Given the description of an element on the screen output the (x, y) to click on. 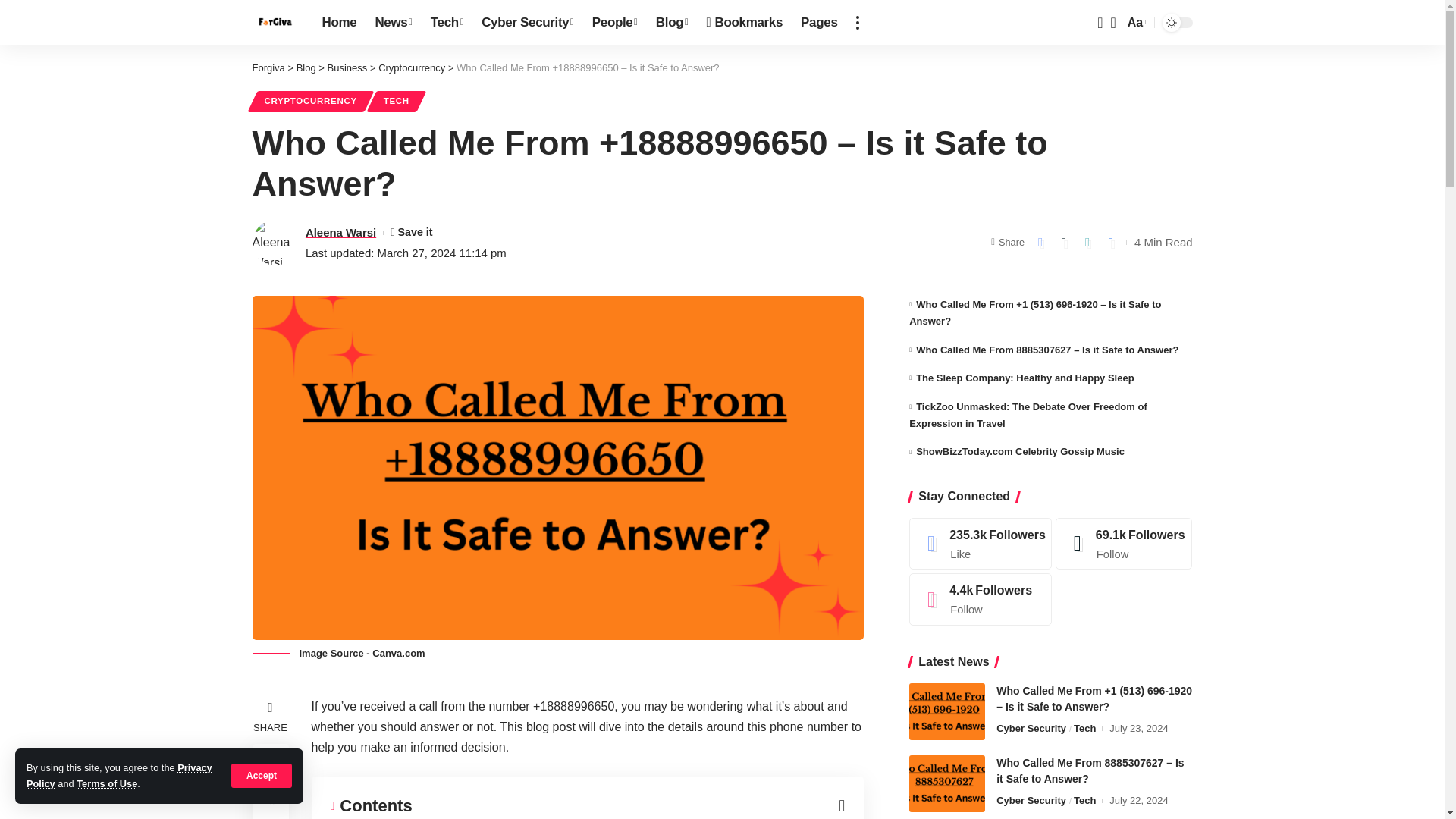
Forgiva (274, 22)
Accept (261, 775)
Terms of Use (106, 783)
Tech (446, 22)
News (392, 22)
Privacy Policy (119, 775)
Cyber Security (527, 22)
Home (339, 22)
